Given the description of an element on the screen output the (x, y) to click on. 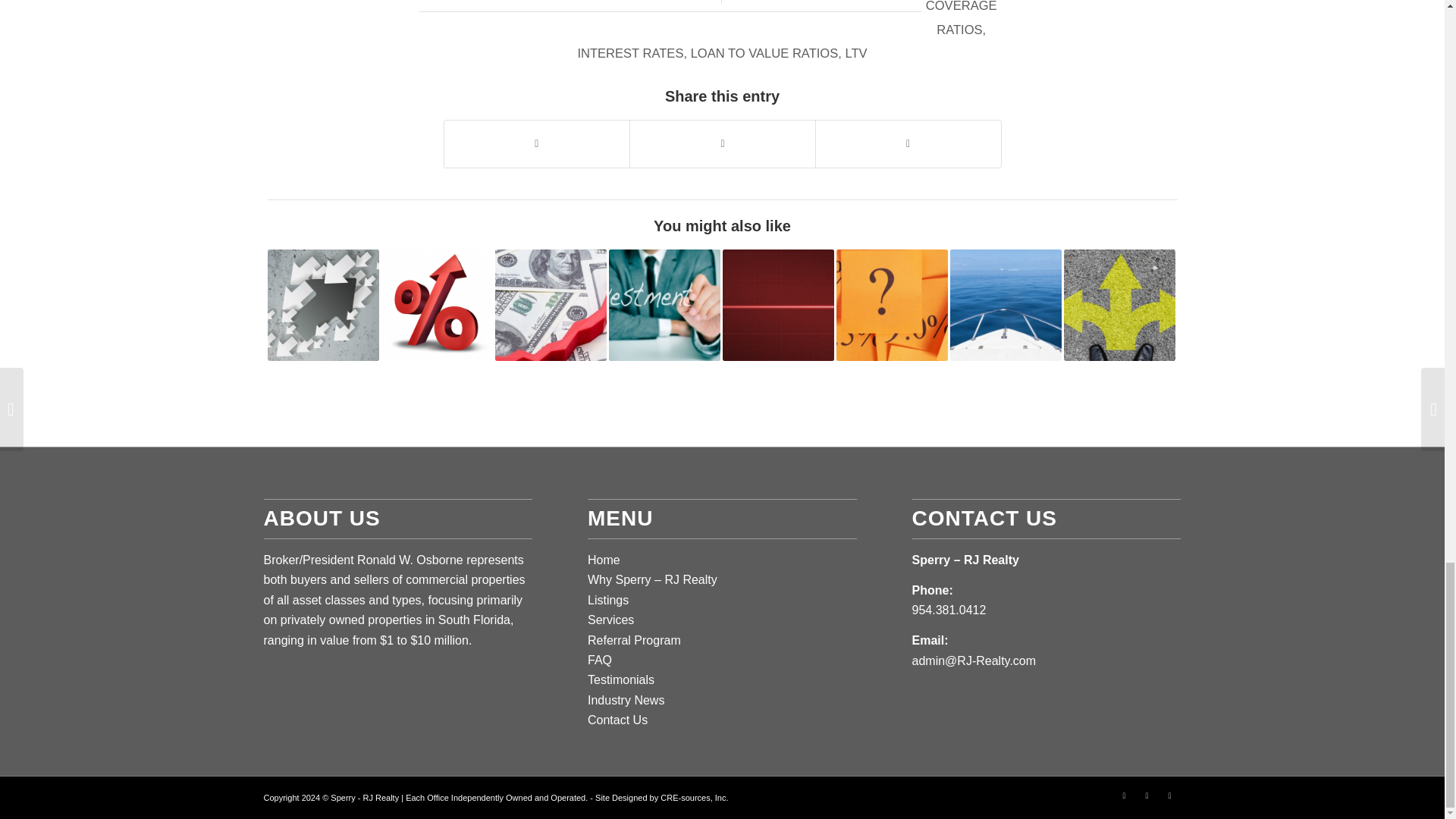
DEBT COVERAGE RATIOS (961, 18)
LOAN TO VALUE RATIOS (764, 52)
Our Sales Were Up In Q4. Let Us Help You. (322, 305)
INTEREST RATES (629, 52)
LTV (855, 52)
